Given the description of an element on the screen output the (x, y) to click on. 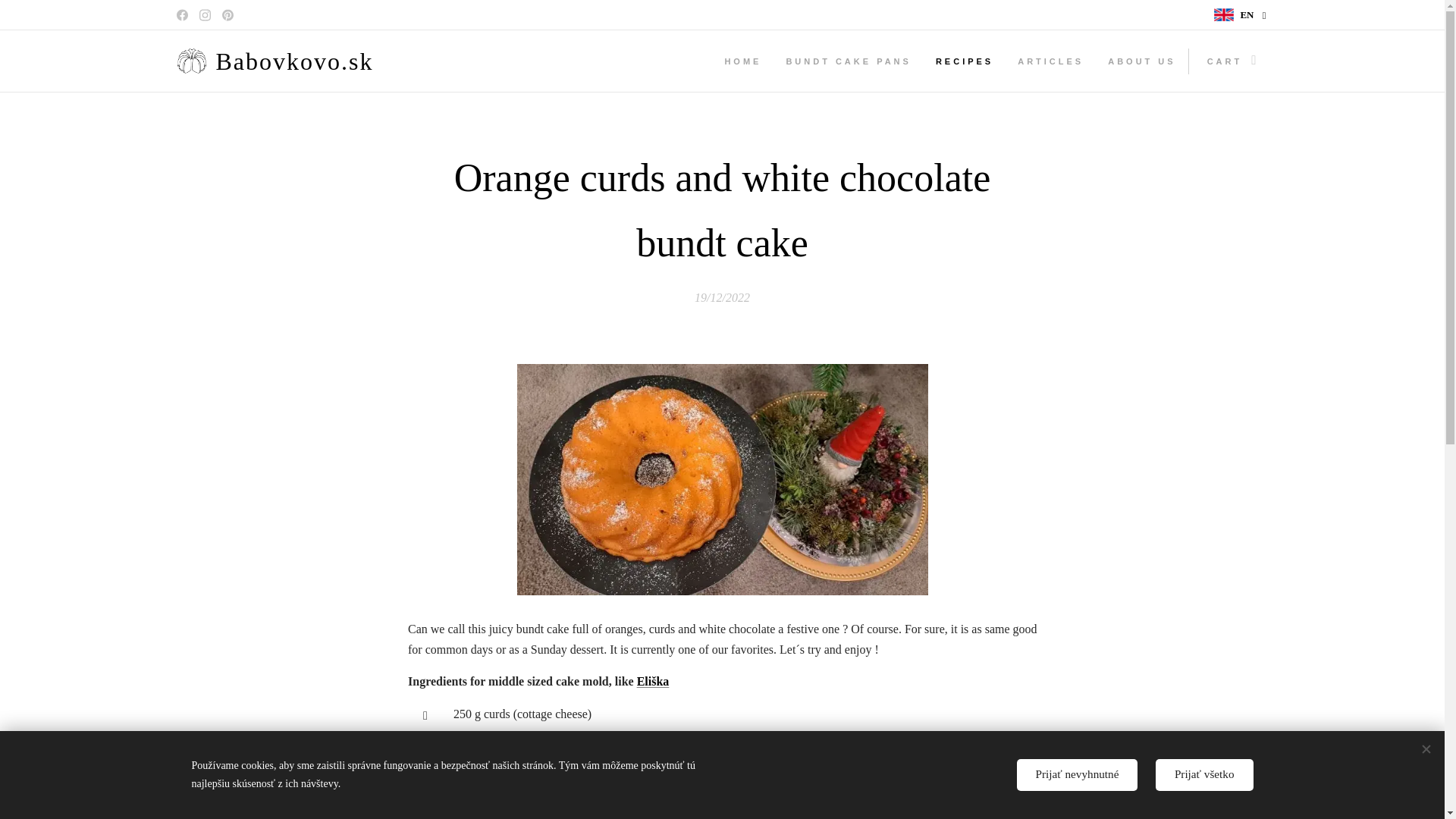
RECIPES (964, 61)
ARTICLES (1051, 61)
ABOUT US (1142, 61)
HOME (746, 61)
Babovkovo.sk (277, 61)
CART (1228, 61)
BUNDT CAKE PANS (848, 61)
